Given the description of an element on the screen output the (x, y) to click on. 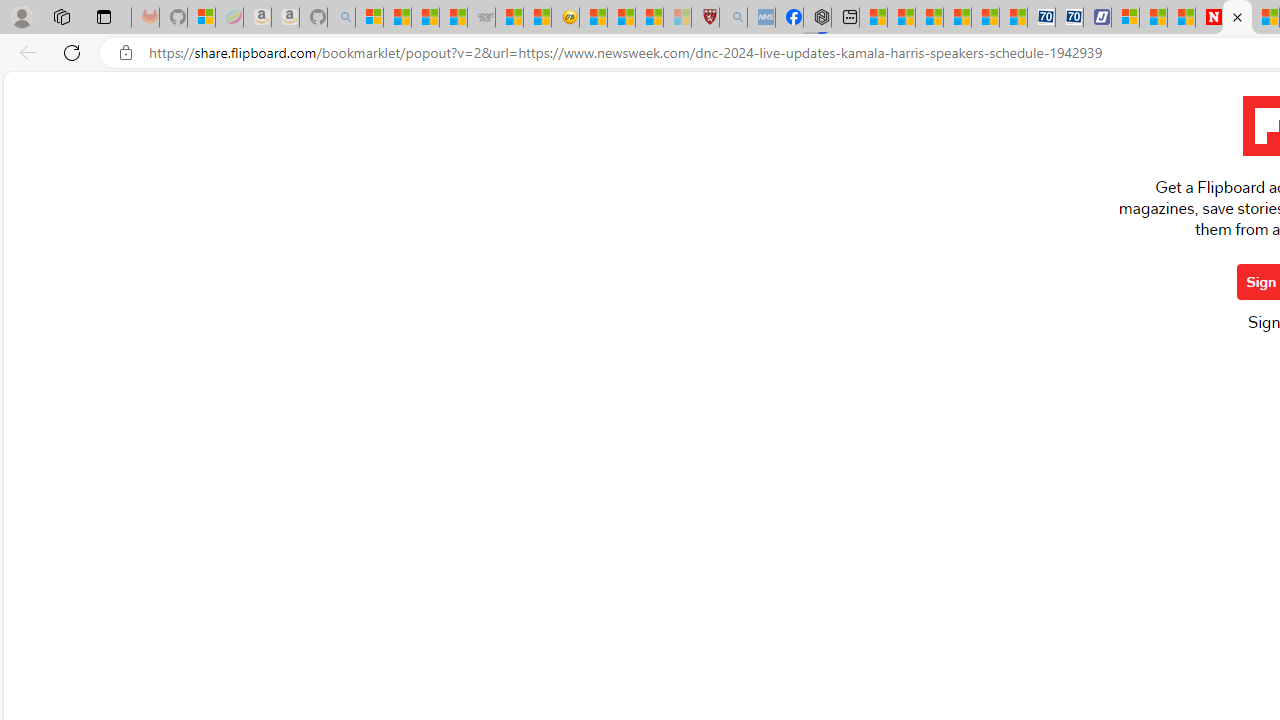
Microsoft-Report a Concern to Bing (201, 17)
Microsoft account | Privacy (1125, 17)
Recipes - MSN (592, 17)
Cheap Hotels - Save70.com (1069, 17)
MSNBC - MSN (425, 17)
Flipboard Signup (1236, 17)
Cheap Car Rentals - Save70.com (1040, 17)
